Given the description of an element on the screen output the (x, y) to click on. 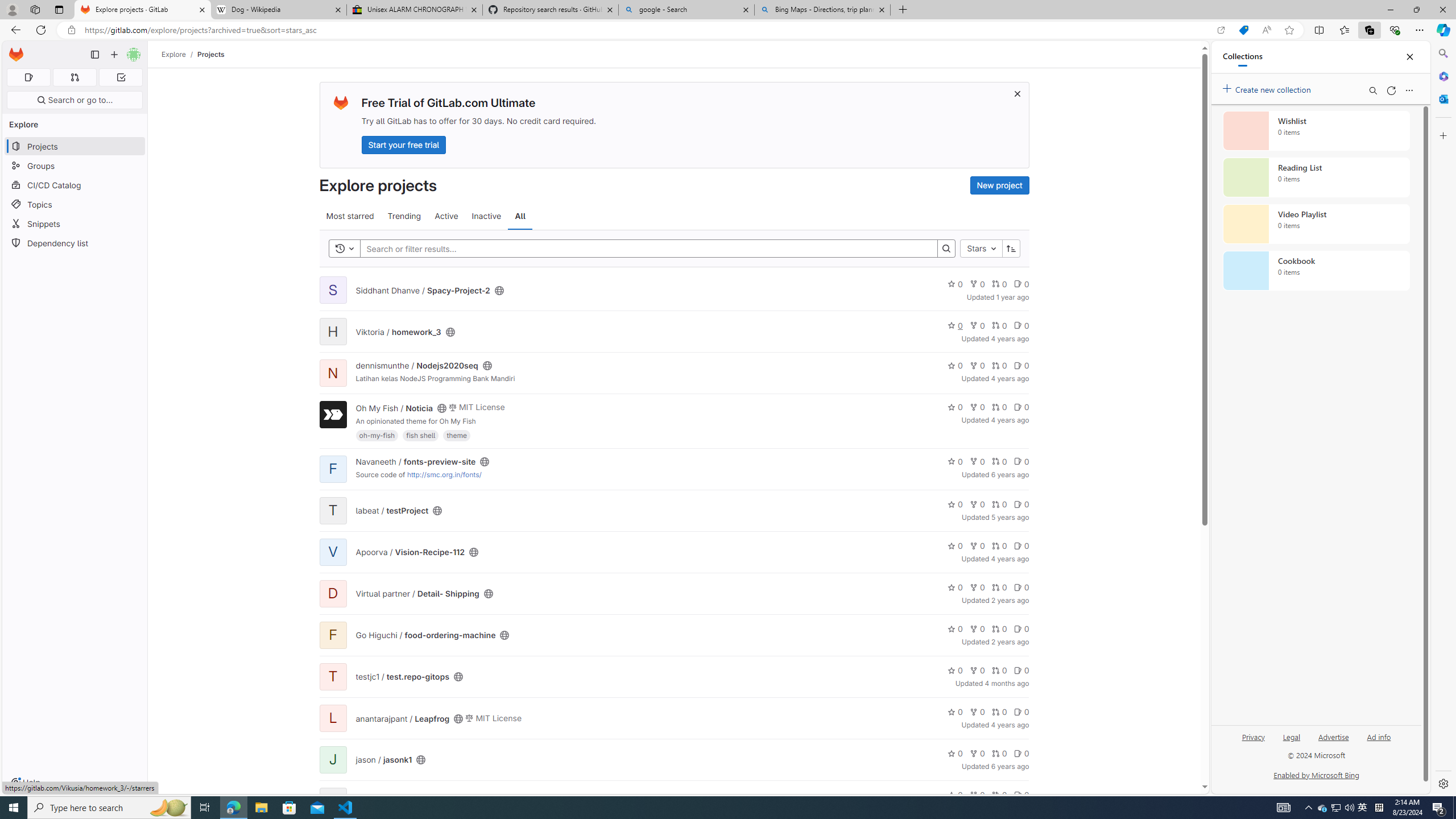
D (332, 593)
More options menu (1409, 90)
Create new collection (1268, 87)
Class: s16 (421, 759)
Go Higuchi / food-ordering-machine (425, 634)
App bar (728, 29)
CI/CD Catalog (74, 185)
Dog - Wikipedia (277, 9)
Cookbook collection, 0 items (1316, 270)
google - Search (685, 9)
Privacy (1252, 741)
Dismiss trial promotion (1017, 93)
